Given the description of an element on the screen output the (x, y) to click on. 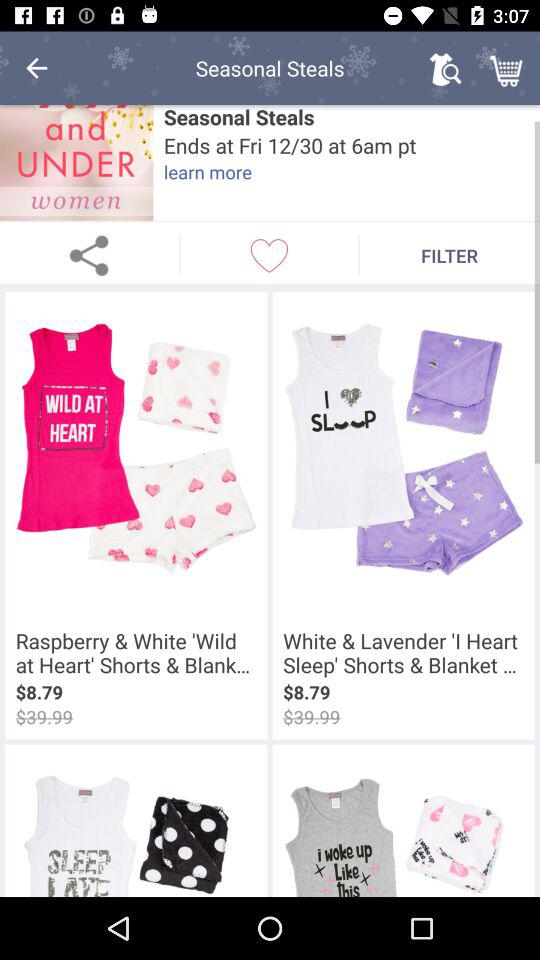
choose the icon next to the seasonal steals item (444, 67)
